Given the description of an element on the screen output the (x, y) to click on. 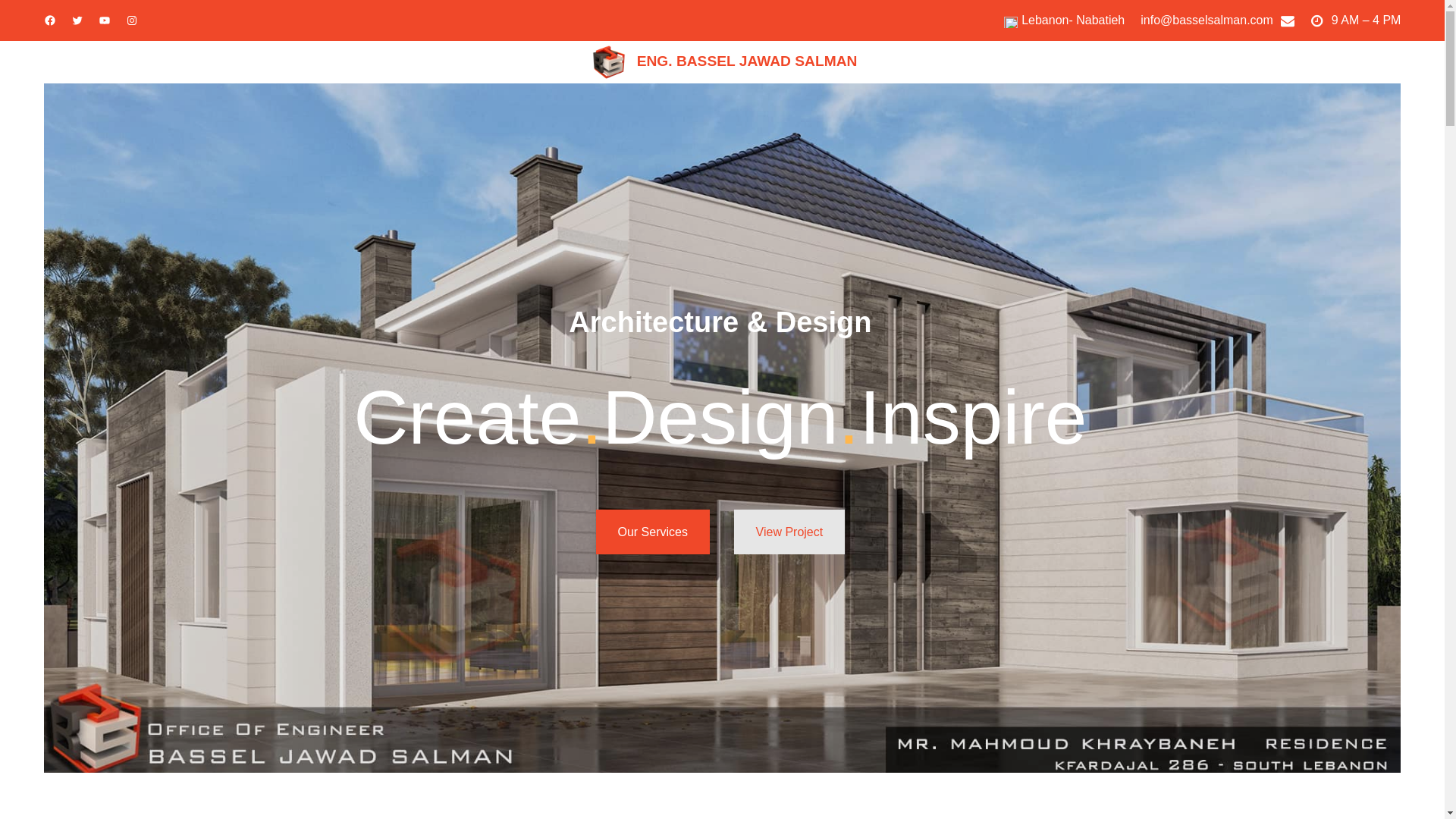
Instagram (131, 20)
YouTube (104, 20)
ENG. BASSEL JAWAD SALMAN (747, 62)
Twitter (76, 20)
Facebook (49, 20)
View Project (788, 531)
Our Services (652, 531)
